Given the description of an element on the screen output the (x, y) to click on. 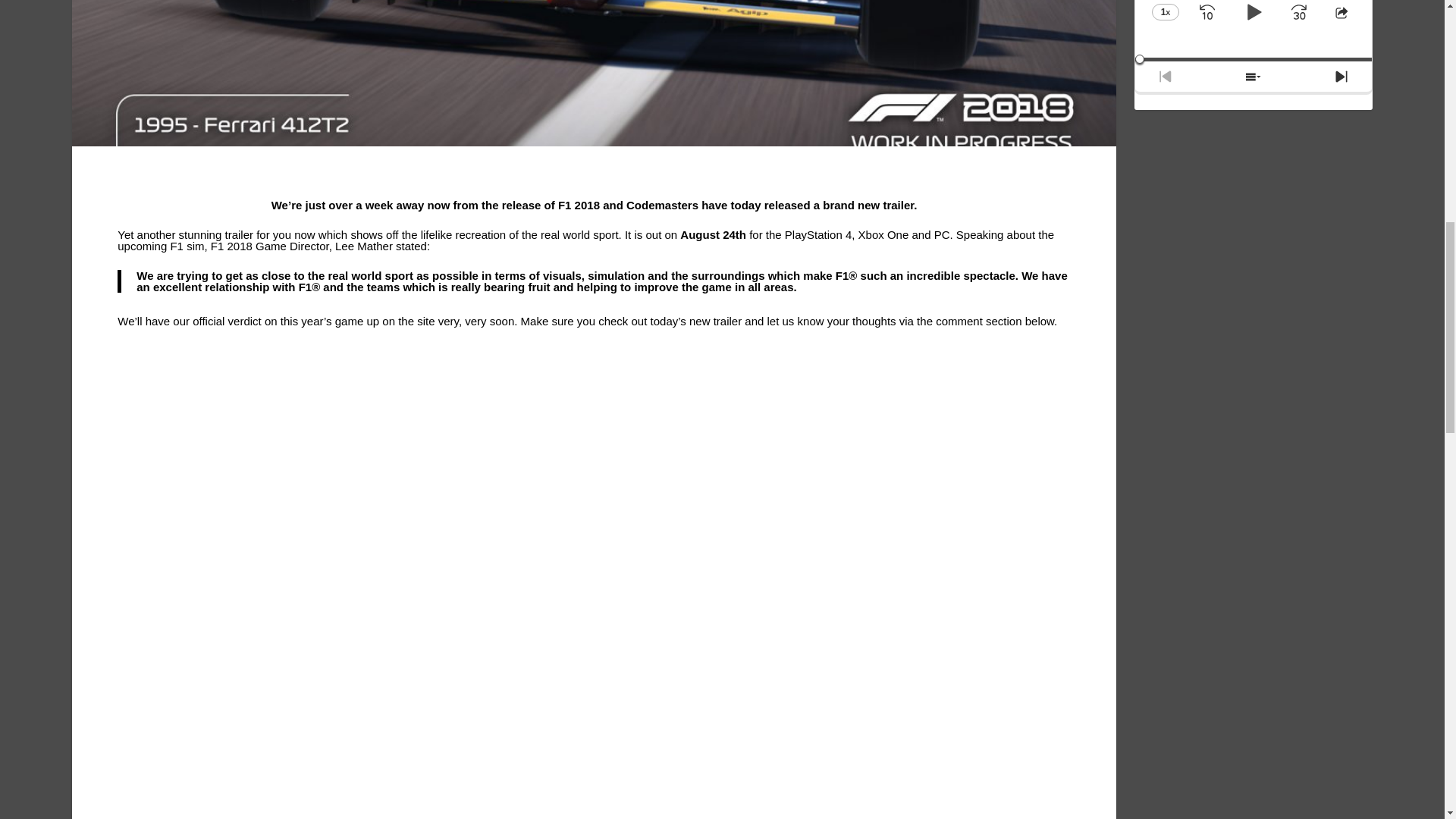
0 (1253, 59)
